Given the description of an element on the screen output the (x, y) to click on. 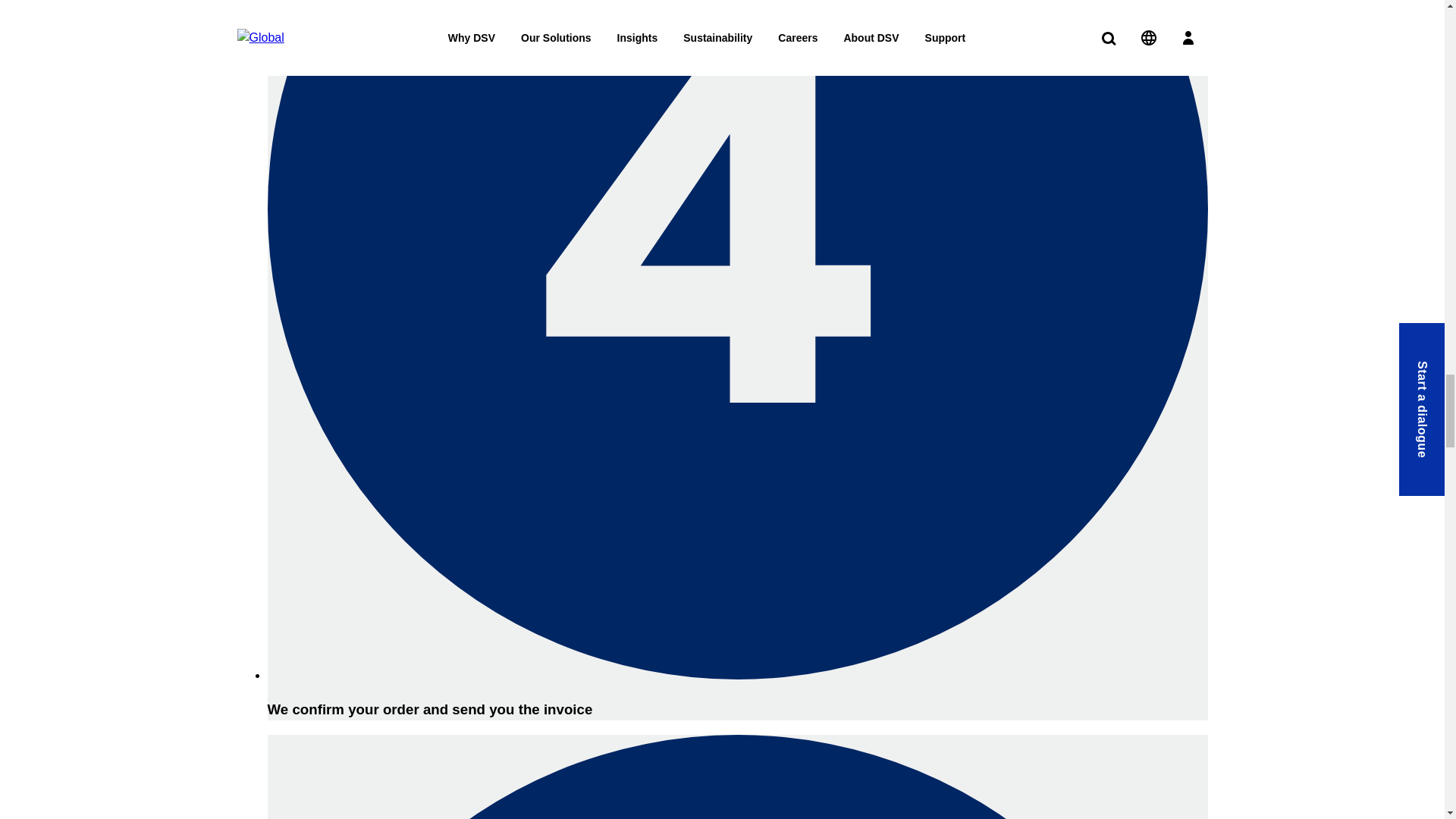
Number 5 (736, 776)
